Given the description of an element on the screen output the (x, y) to click on. 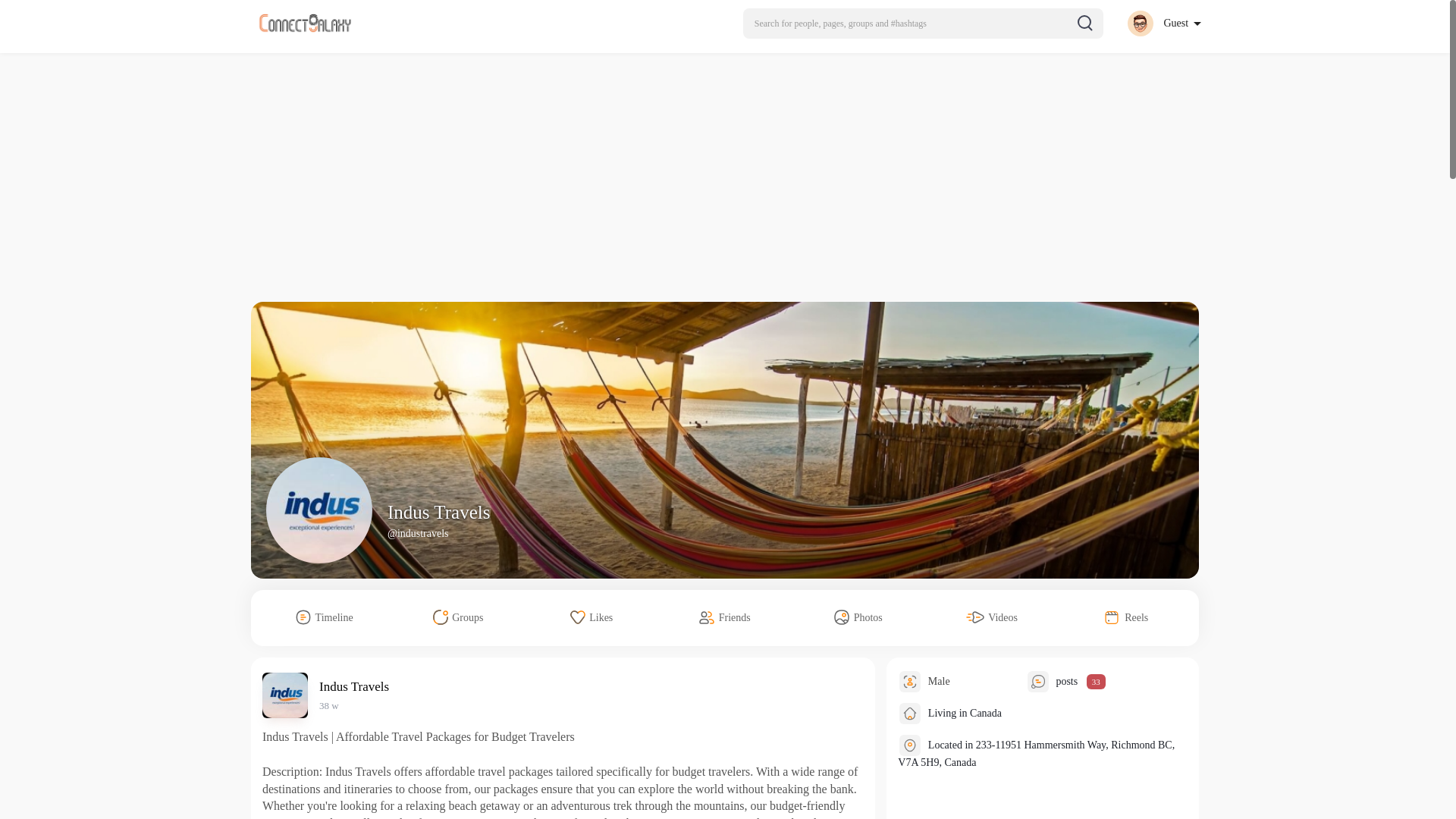
Indus Travels (438, 512)
Timeline (324, 617)
Photos (857, 617)
Videos (991, 617)
Likes (591, 617)
Indus Travels (356, 686)
Friends (725, 617)
Guest (1163, 23)
38 w (328, 705)
